Given the description of an element on the screen output the (x, y) to click on. 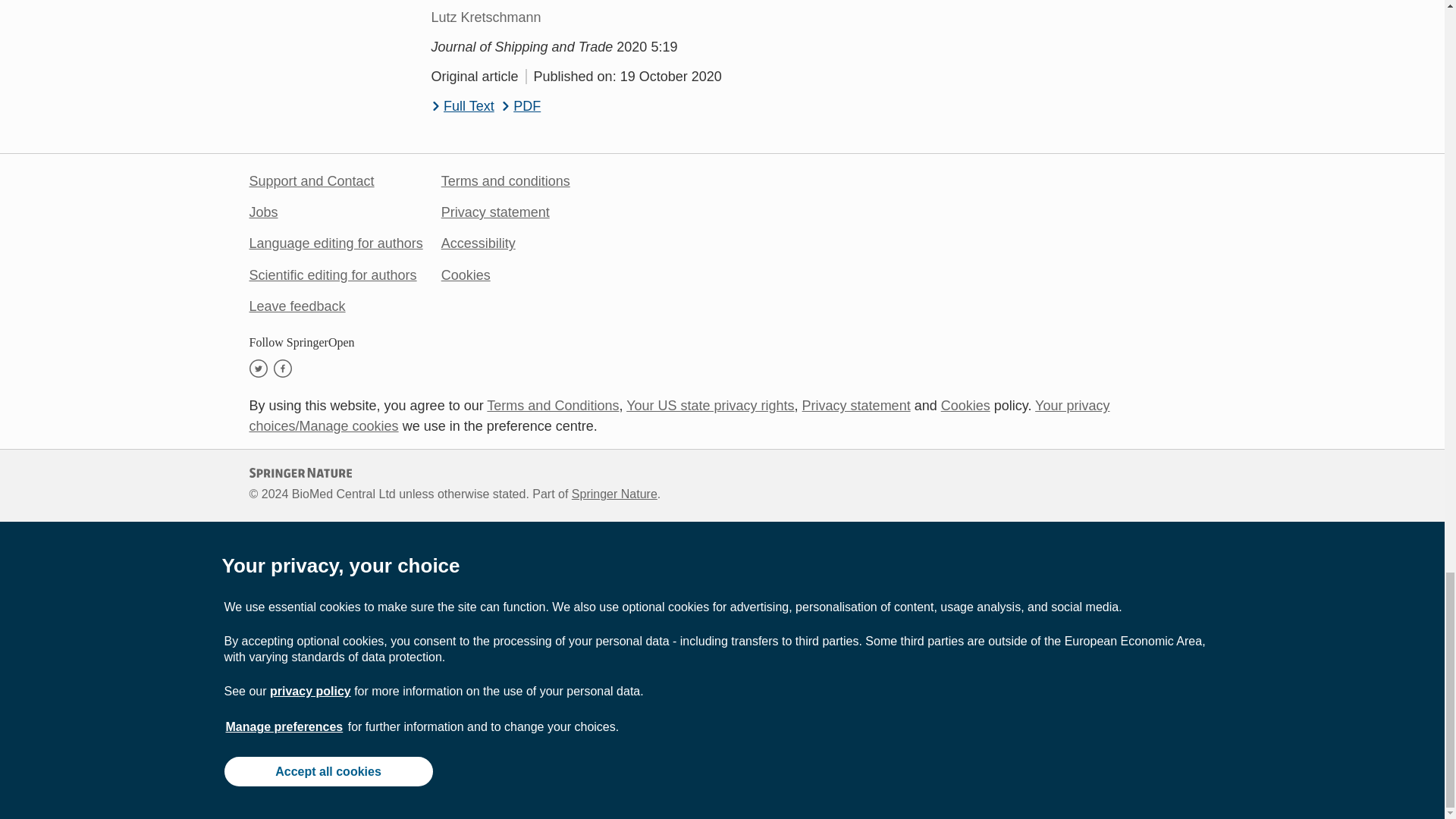
Accessibility (478, 242)
Full Text (461, 106)
Privacy statement (495, 212)
Scientific editing for authors (332, 274)
PDF (520, 106)
Jobs (263, 212)
Terms and conditions (505, 181)
Language editing for authors (335, 242)
Leave feedback (296, 305)
Support and Contact (311, 181)
